Given the description of an element on the screen output the (x, y) to click on. 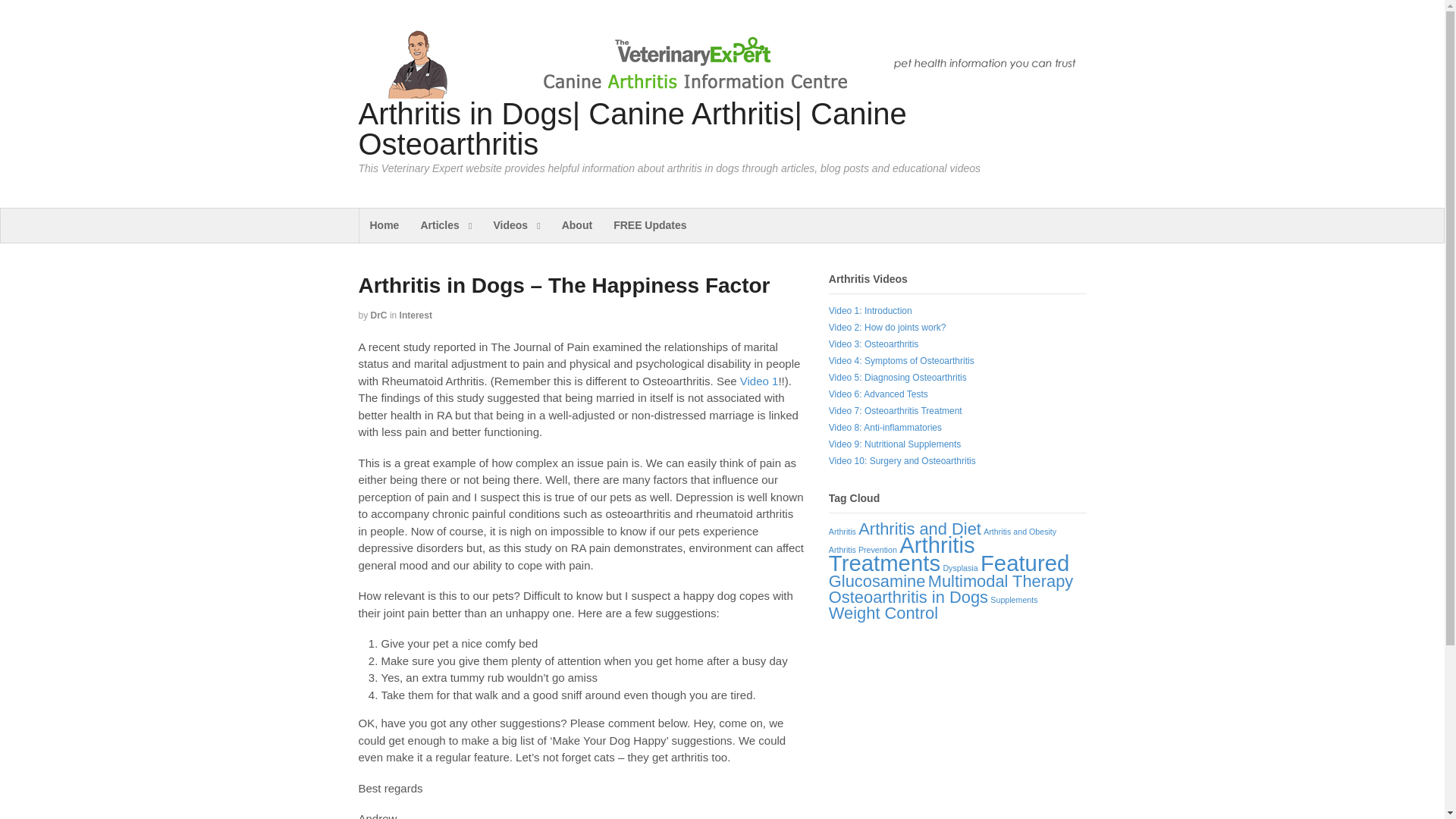
Posts by DrC (379, 315)
Articles (445, 225)
Interest (415, 315)
Video 3: Osteoarthritis (873, 344)
Video 4: Symptoms of Osteoarthritis (901, 360)
Video 2: How do joints work? (887, 327)
DrC (379, 315)
Video 6: Advanced Tests (878, 394)
Video 7: Osteoarthritis Treatment (895, 410)
